Given the description of an element on the screen output the (x, y) to click on. 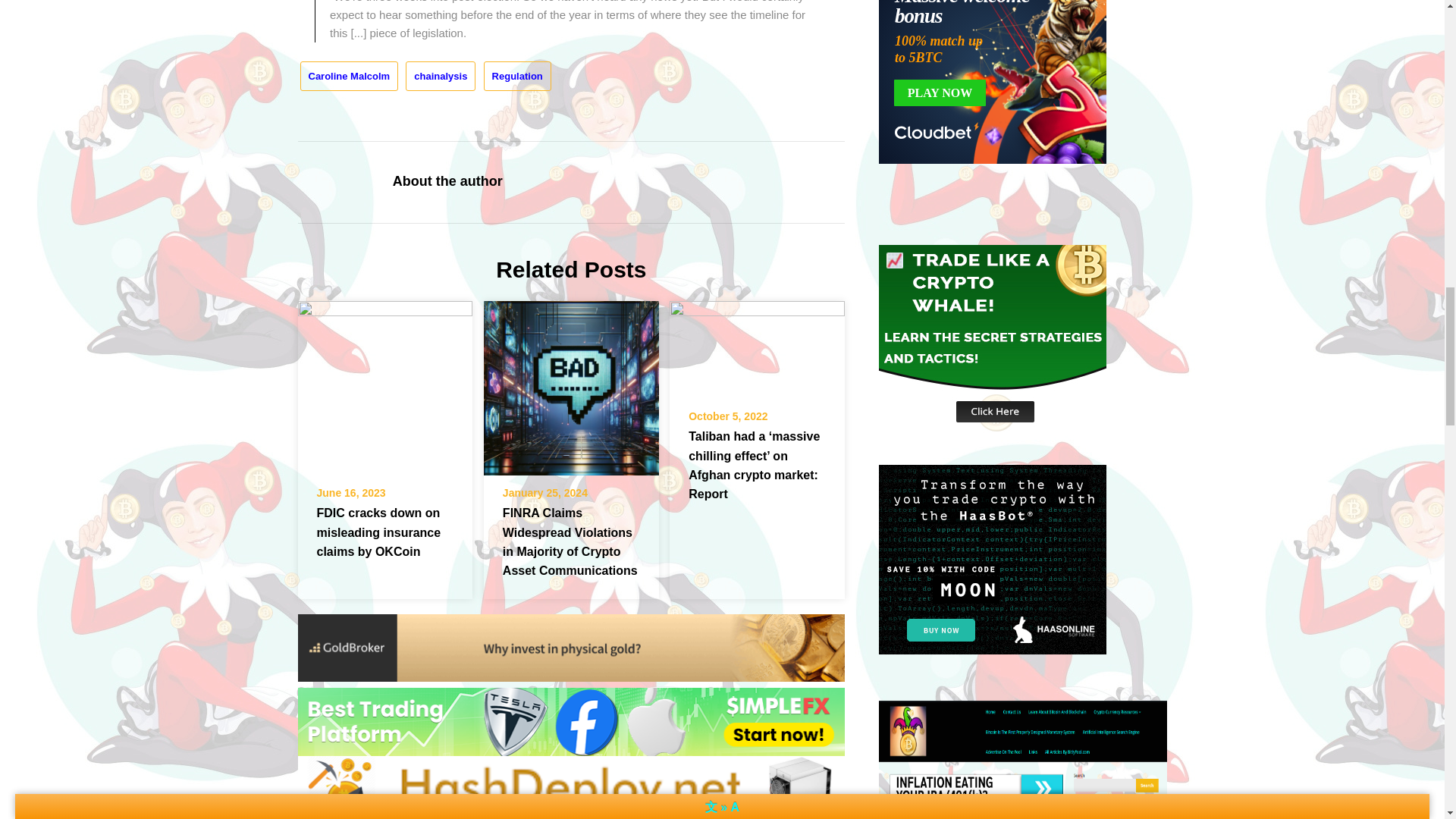
chainalysis (441, 75)
Regulation (517, 75)
Caroline Malcolm (348, 75)
FDIC cracks down on misleading insurance claims by OKCoin (384, 382)
Cryptoultimatum - Trade Like a Crypto Whale (992, 339)
FDIC cracks down on misleading insurance claims by OKCoin (379, 531)
Automated trading with HaasBot Crypto Trading Bots (992, 558)
